Given the description of an element on the screen output the (x, y) to click on. 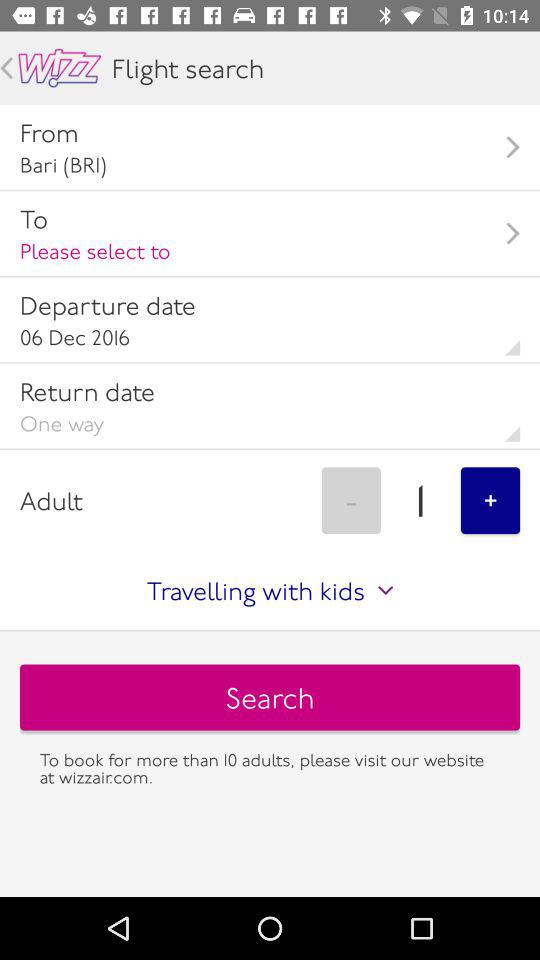
launch the icon next to the 1 item (490, 500)
